Given the description of an element on the screen output the (x, y) to click on. 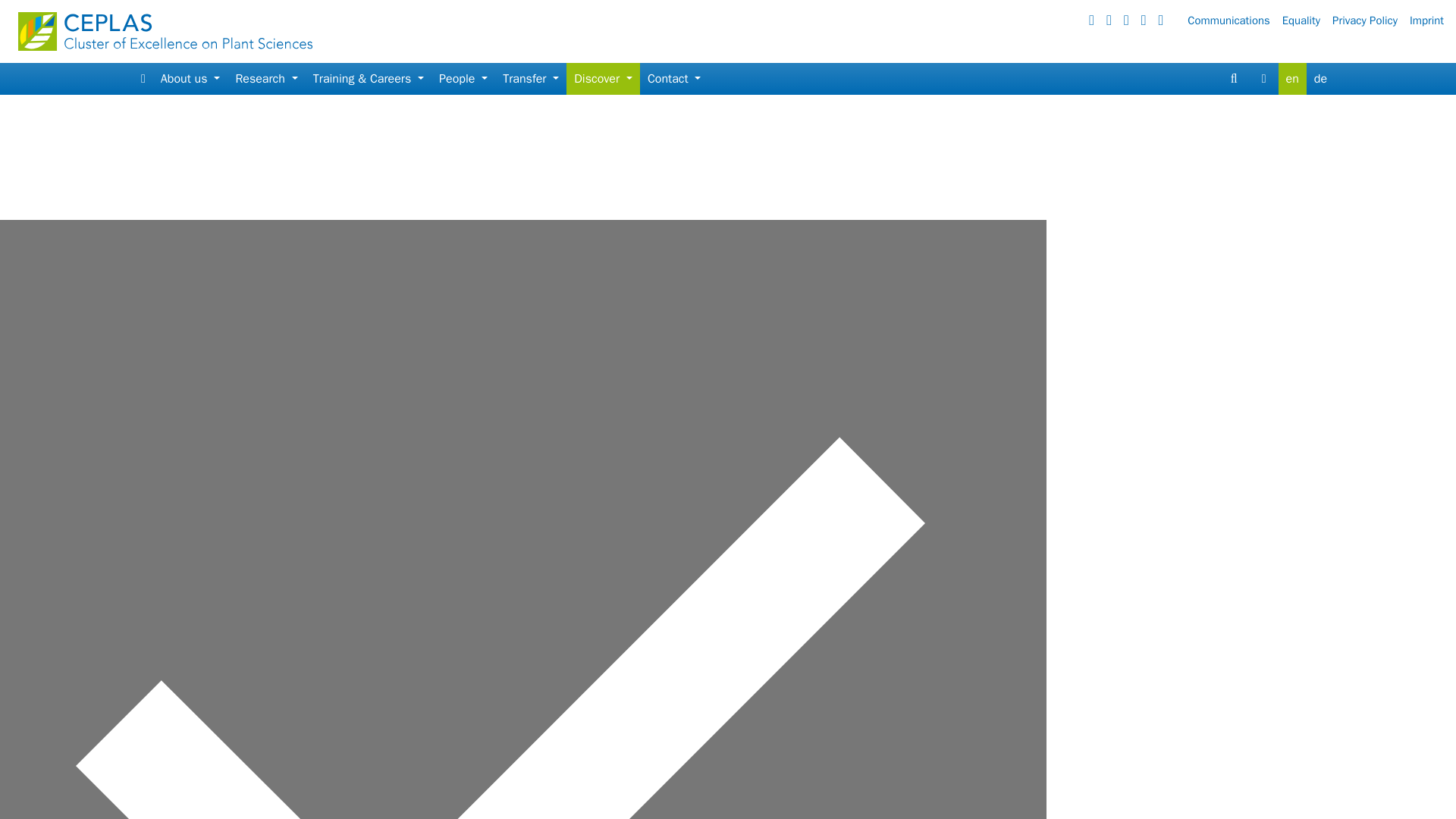
Research (265, 79)
About us (190, 79)
Communications (1234, 20)
Equality (1307, 20)
About us (190, 79)
Privacy Policy (1370, 20)
Privacy Policy (1370, 20)
Equality (1307, 20)
Communications (1234, 20)
Research (265, 79)
